Given the description of an element on the screen output the (x, y) to click on. 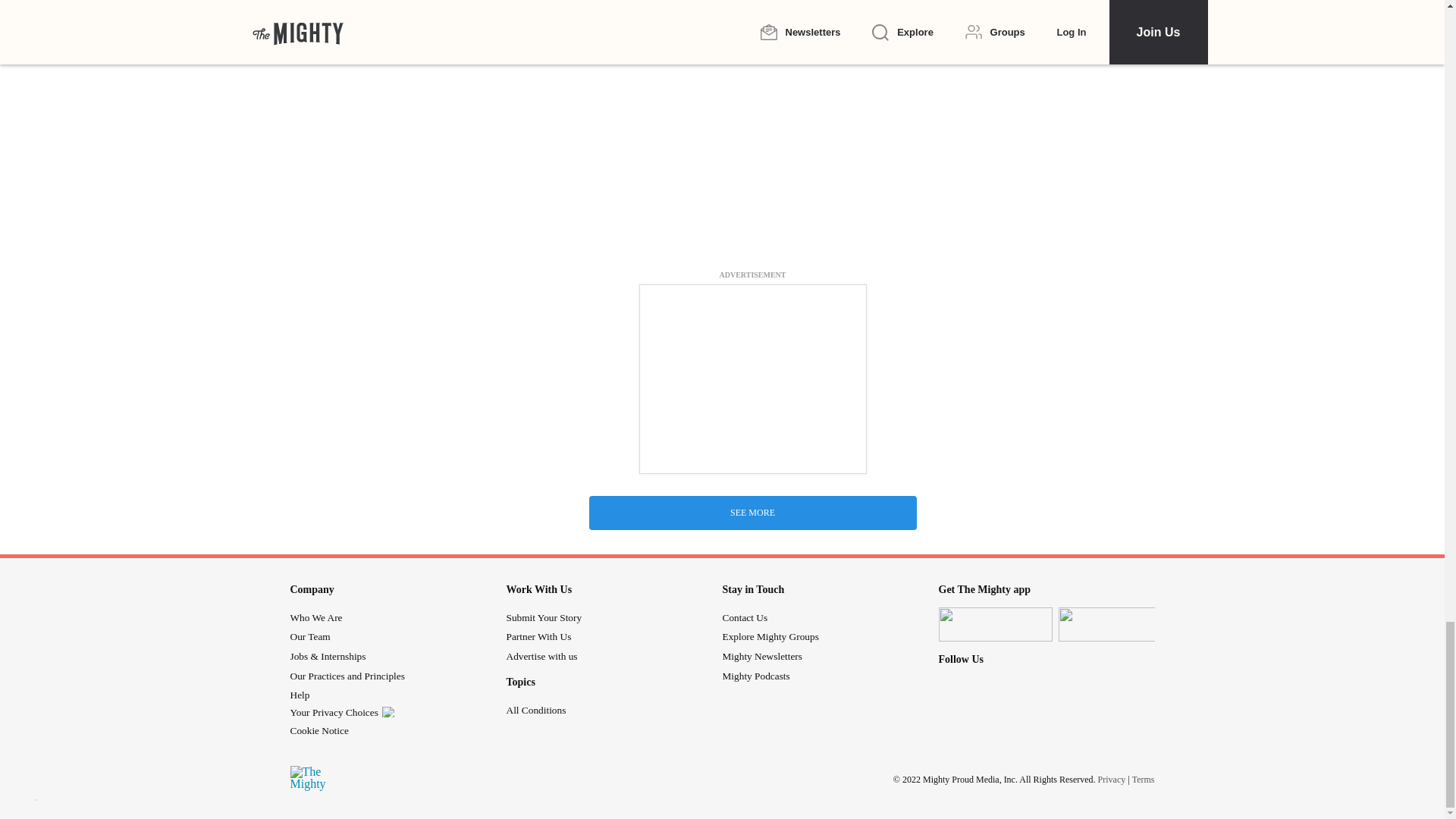
SEE MORE (751, 512)
Who We Are (315, 617)
Our Practices and Principles (346, 675)
Our Team (309, 636)
Help (298, 695)
